Given the description of an element on the screen output the (x, y) to click on. 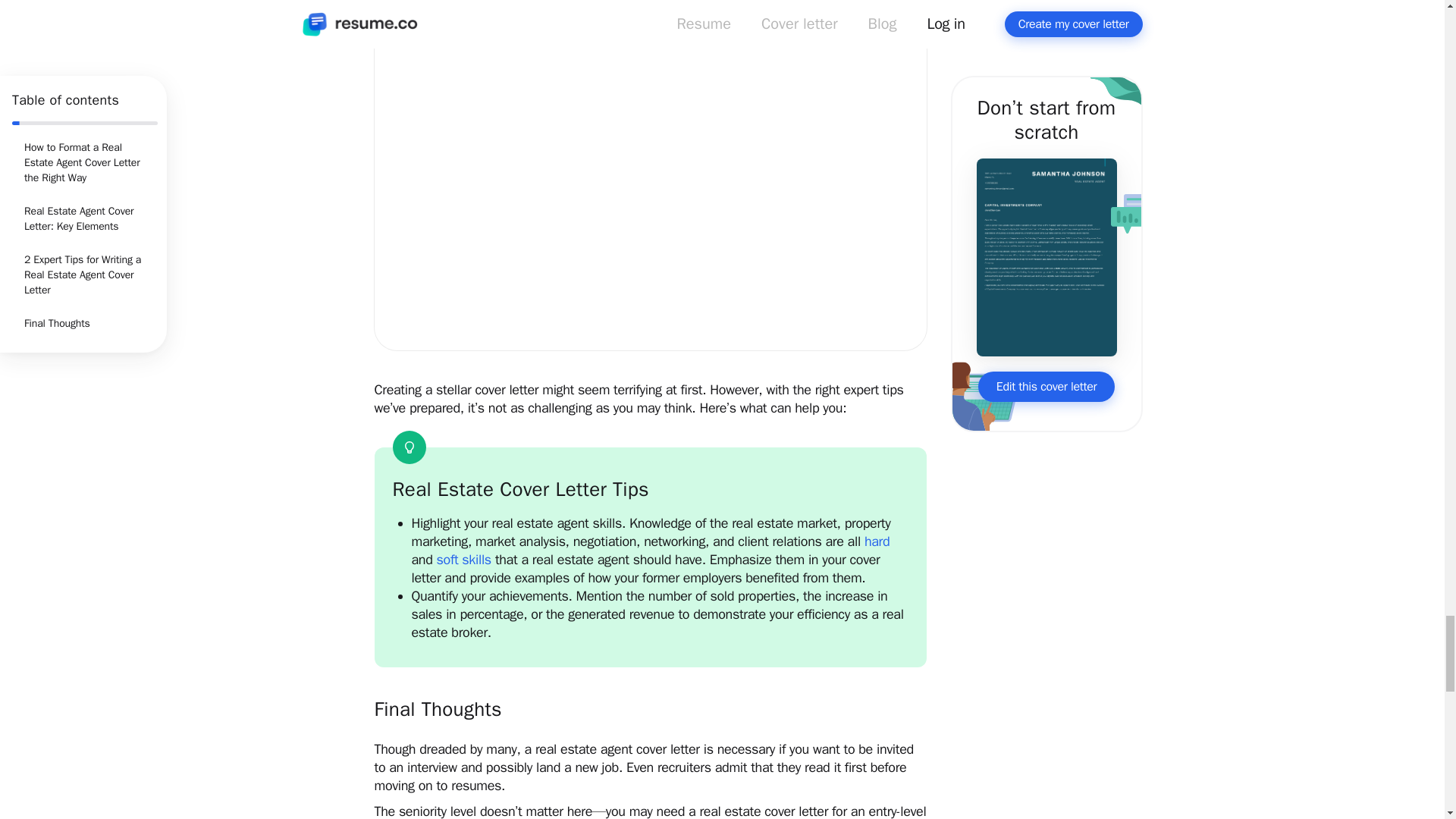
hard (876, 541)
soft skills (464, 559)
